Given the description of an element on the screen output the (x, y) to click on. 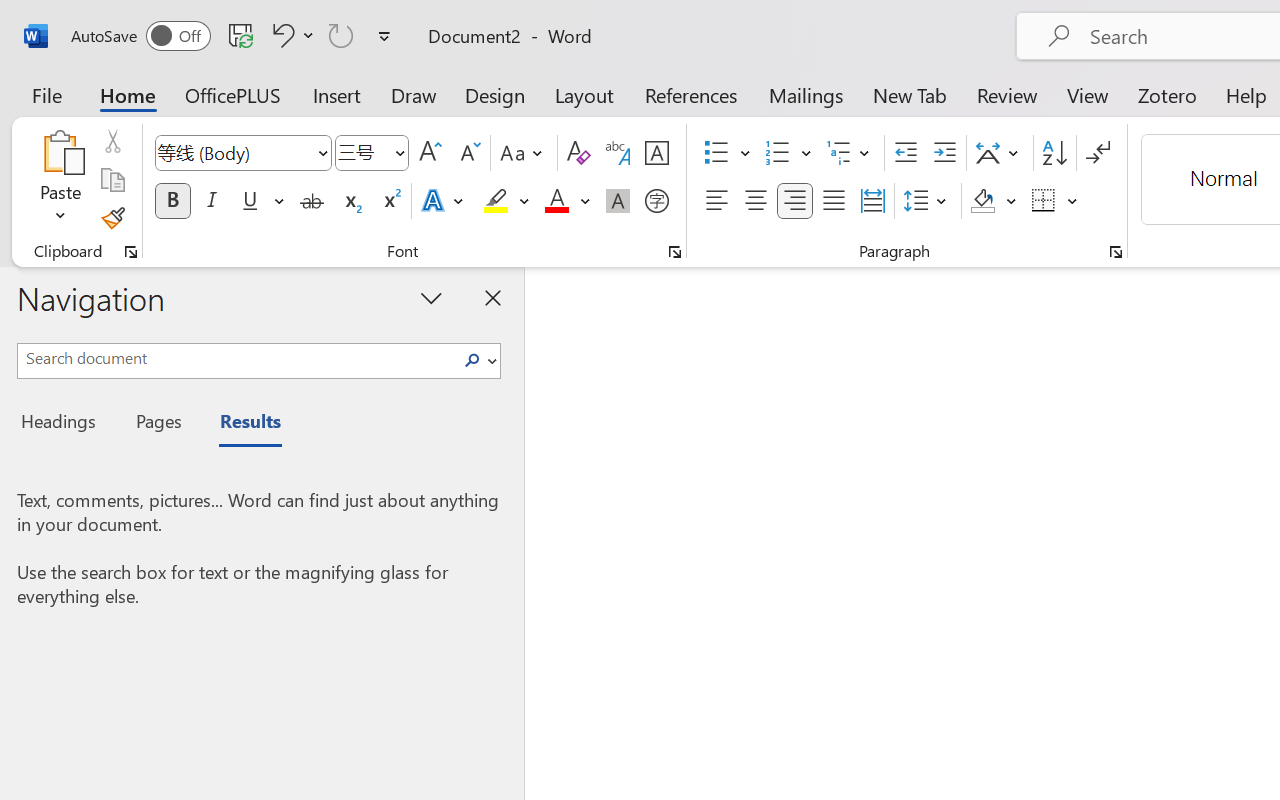
Borders (1055, 201)
Line and Paragraph Spacing (927, 201)
Justify (834, 201)
Font... (675, 252)
Shading (993, 201)
Borders (1044, 201)
Open (399, 152)
Text Effects and Typography (444, 201)
Align Right (794, 201)
